Given the description of an element on the screen output the (x, y) to click on. 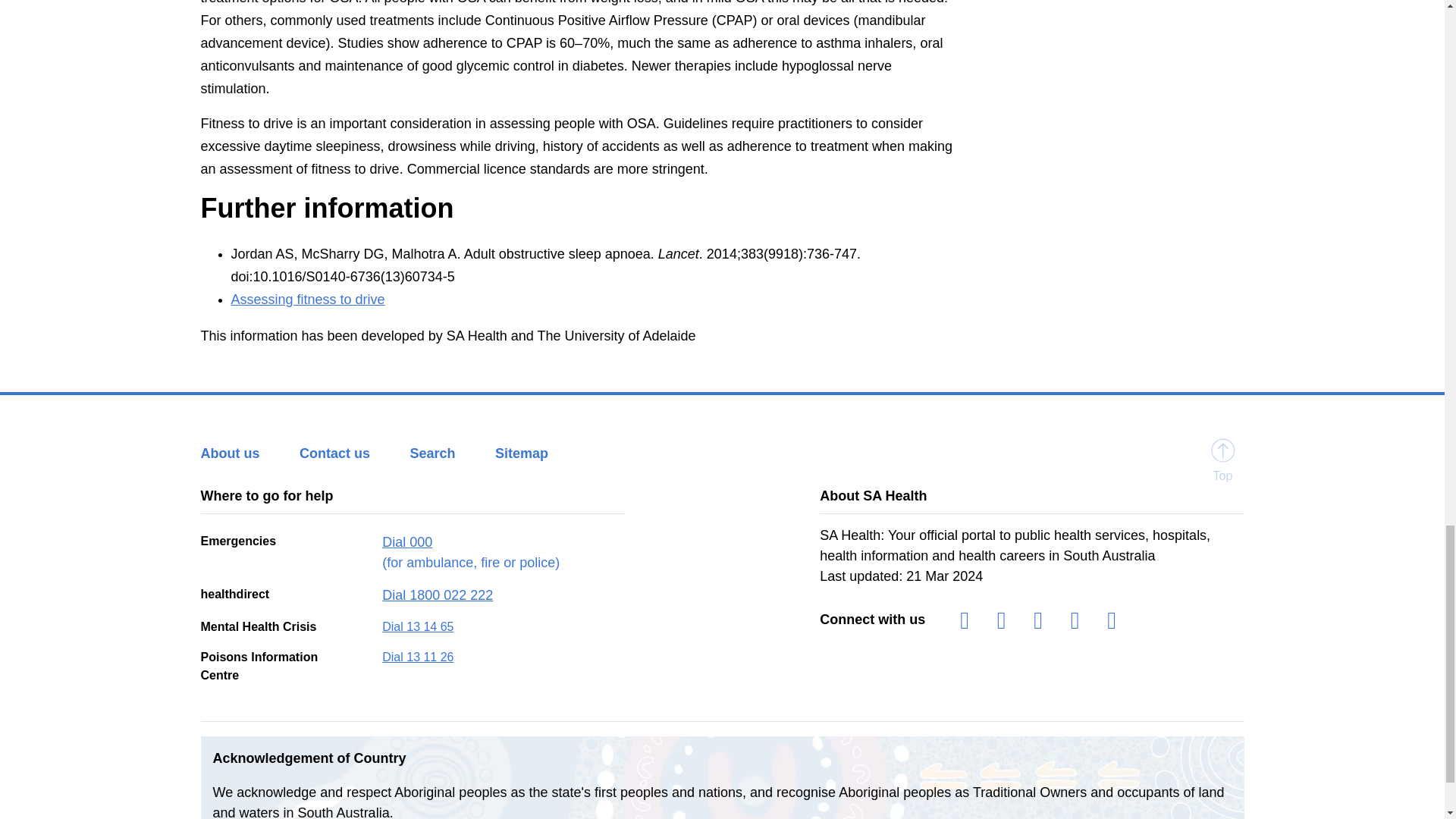
About Us (246, 453)
Contact Us (351, 453)
Assessing fitness to drive (307, 299)
